Given the description of an element on the screen output the (x, y) to click on. 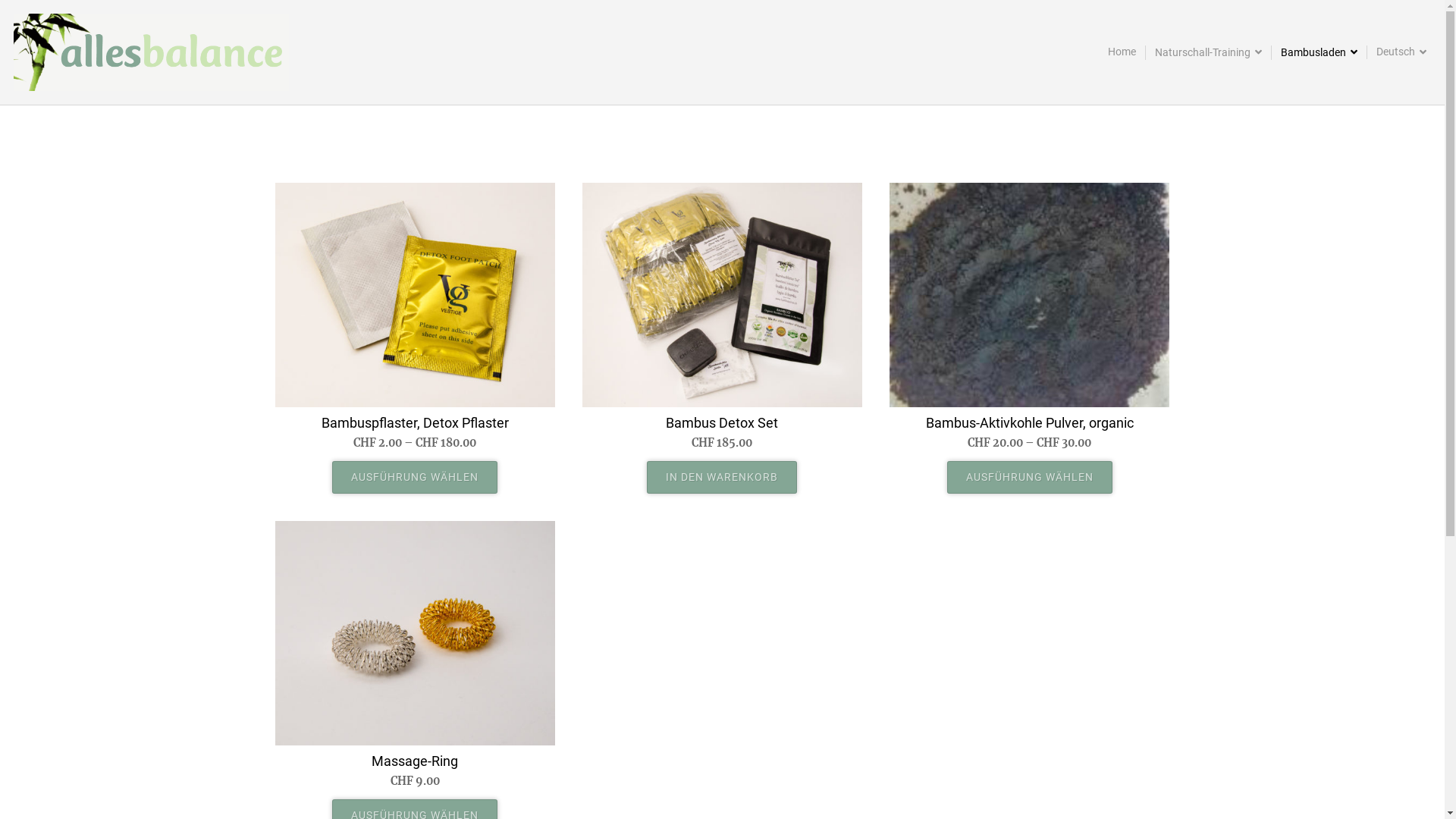
Deutsch Element type: text (1400, 52)
Bambus Detox Set
CHF 185.00 Element type: text (722, 316)
Bambusladen Element type: text (1318, 52)
Massage-Ring
CHF 9.00 Element type: text (414, 654)
Naturschall-Training Element type: text (1207, 52)
IN DEN WARENKORB Element type: text (721, 477)
Home Element type: text (1121, 52)
